Given the description of an element on the screen output the (x, y) to click on. 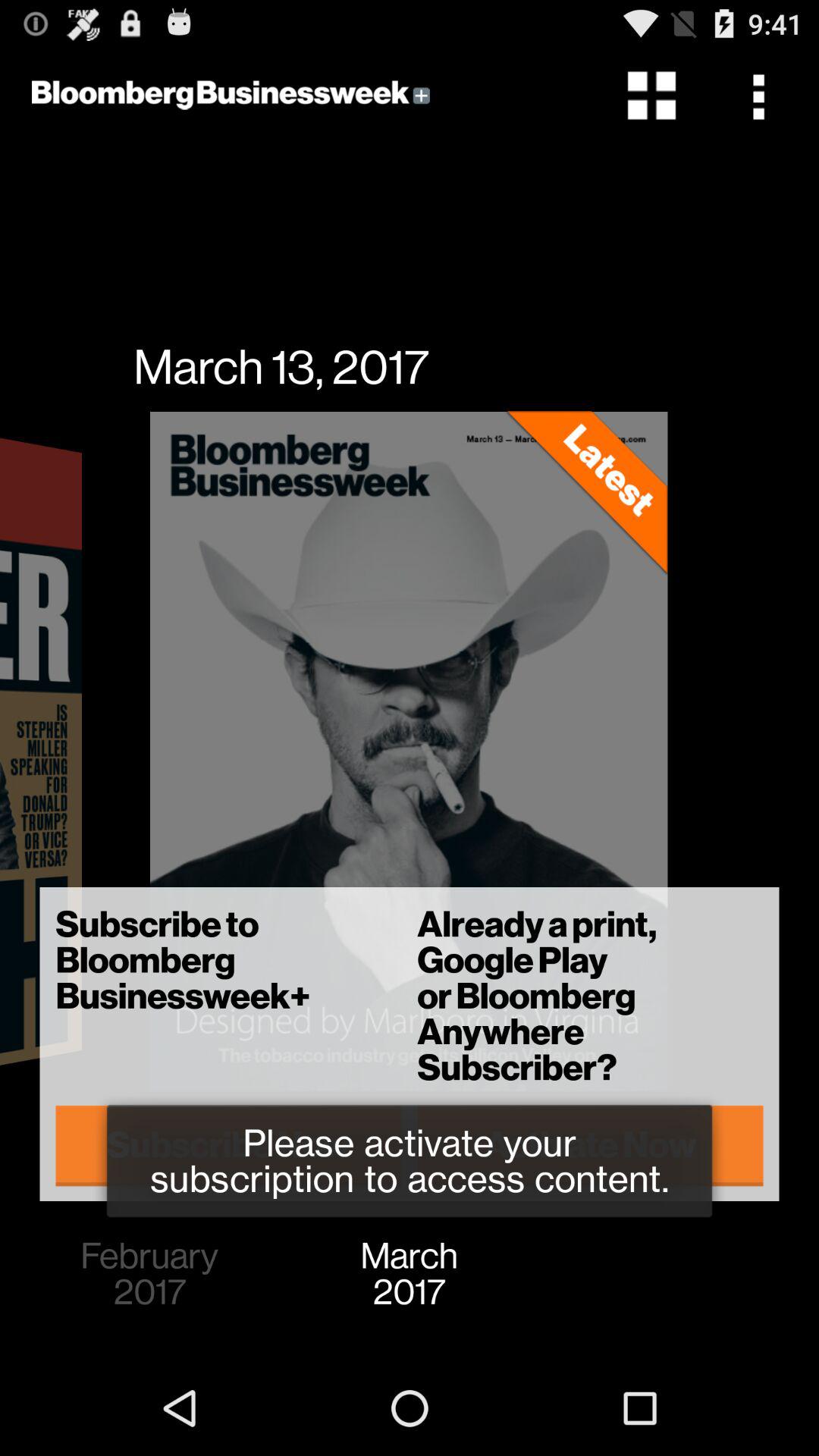
press the item above already a print icon (763, 95)
